Given the description of an element on the screen output the (x, y) to click on. 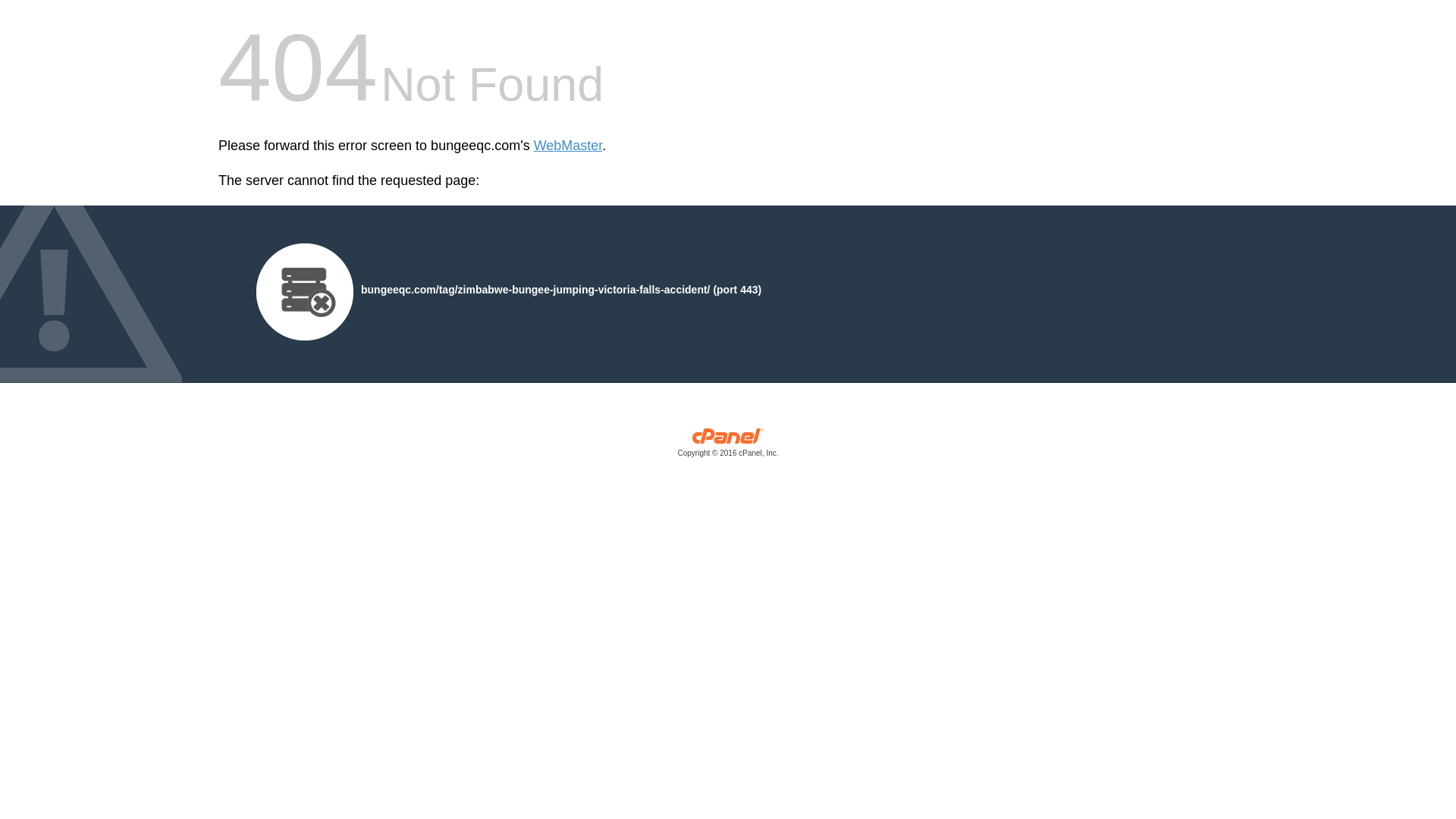
WebMaster (568, 145)
cPanel, Inc. (727, 446)
